Given the description of an element on the screen output the (x, y) to click on. 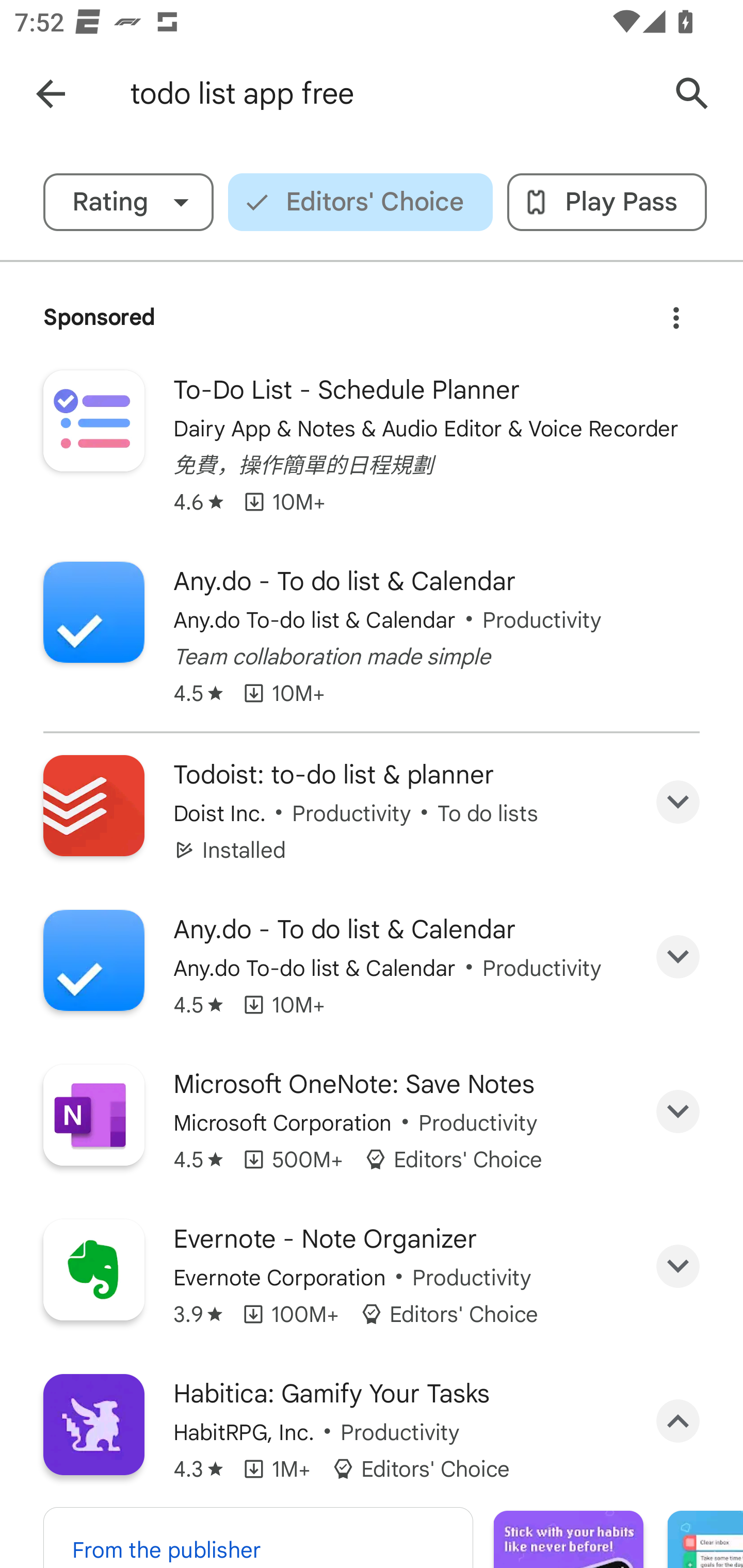
todo list app free (389, 93)
Navigate up (50, 93)
Search Google Play (692, 93)
Rating - double tap to change the filter (128, 202)
Play Pass - double tap to toggle the filter (606, 202)
About this ad (676, 311)
Expand content for Todoist: to-do list & planner (677, 801)
Expand content for Any.do - To do list & Calendar (677, 957)
Expand content for Microsoft OneNote: Save Notes (677, 1111)
Expand content for Evernote - Note Organizer (677, 1266)
Collapse content for Habitica: Gamify Your Tasks (677, 1421)
From the publisher (258, 1537)
